Given the description of an element on the screen output the (x, y) to click on. 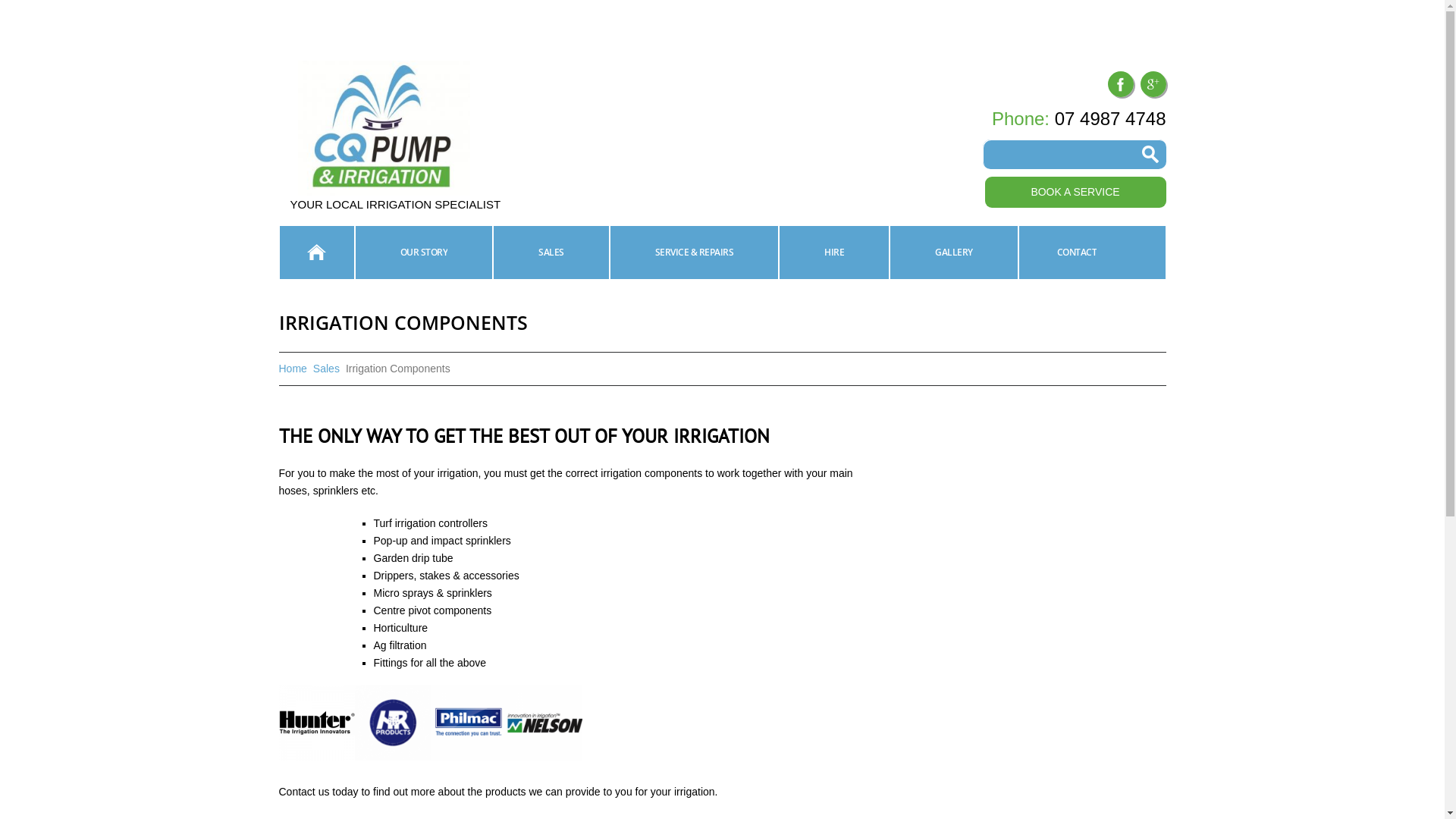
SALES Element type: text (551, 252)
Philmac Element type: hover (468, 722)
facebook Element type: hover (1119, 84)
HOME Element type: text (316, 252)
Home Element type: text (293, 368)
Sales Element type: text (326, 368)
CONTACT Element type: text (1077, 252)
GALLERY Element type: text (953, 252)
Your local irrigation specialist Element type: hover (383, 127)
google Element type: hover (1153, 84)
OUR STORY Element type: text (424, 252)
SERVICE & REPAIRS Element type: text (694, 252)
BOOK A SERVICE Element type: text (1074, 191)
Nelson irrigation components Element type: hover (544, 722)
HIRE Element type: text (834, 252)
Hunter Element type: hover (316, 722)
Go Element type: text (1150, 154)
HR Products Element type: hover (392, 722)
